Given the description of an element on the screen output the (x, y) to click on. 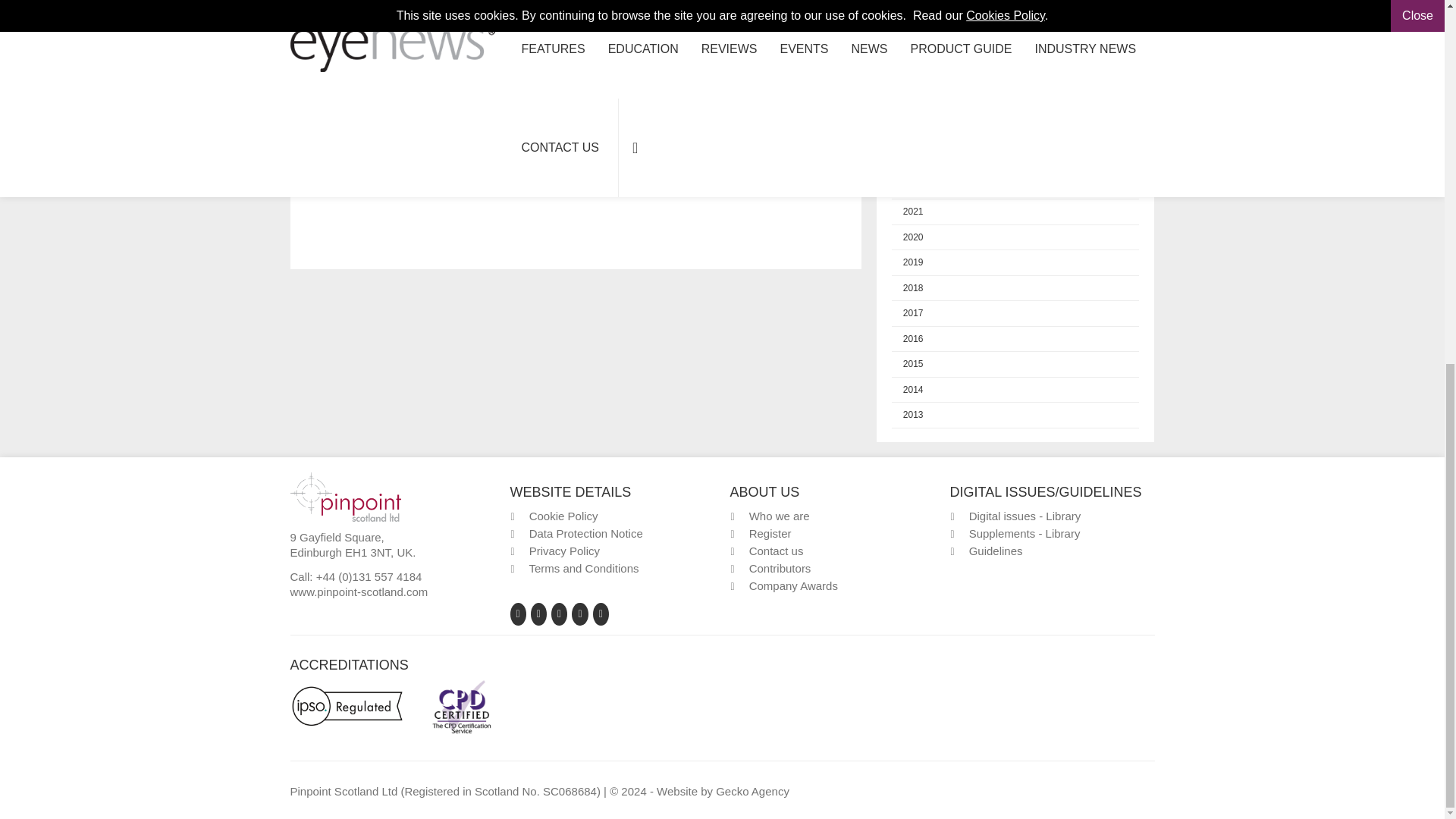
Website by Gecko Agency (752, 790)
